Given the description of an element on the screen output the (x, y) to click on. 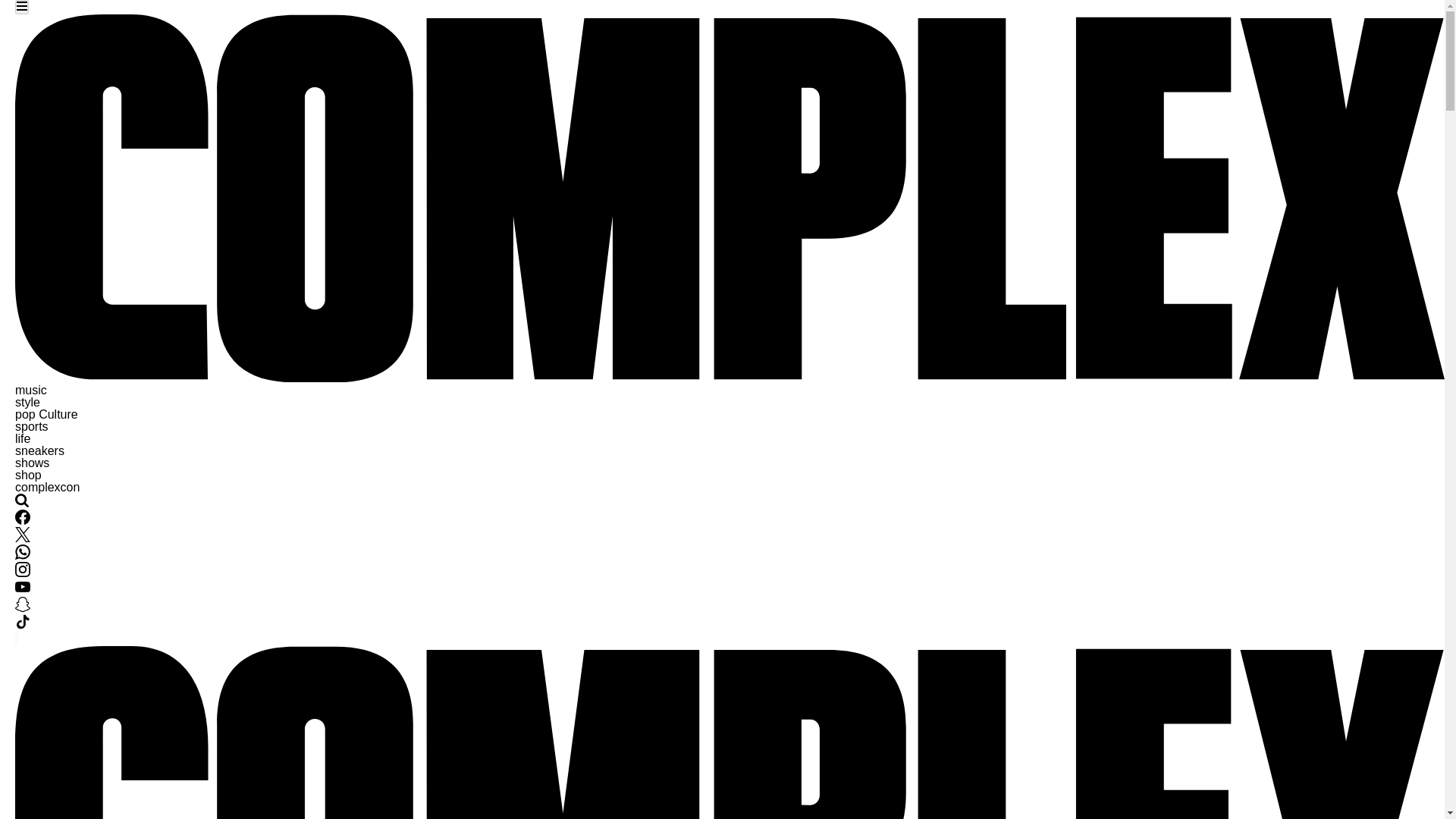
style (27, 401)
Search Icon (21, 499)
Facebook Navigation Icon (22, 520)
Twitter Navigation Icon (22, 537)
Youtube Navigation Icon (22, 590)
WhatsApp icon (22, 551)
hamburger menu (21, 5)
TikTok Navigation Icon (22, 621)
Facebook Navigation Icon (22, 516)
life (22, 438)
sneakers (39, 450)
TikTok Navigation Icon (22, 625)
Instagram Navigation Icon (22, 569)
Snapchat Navigation Icon (22, 607)
sports (31, 426)
